Given the description of an element on the screen output the (x, y) to click on. 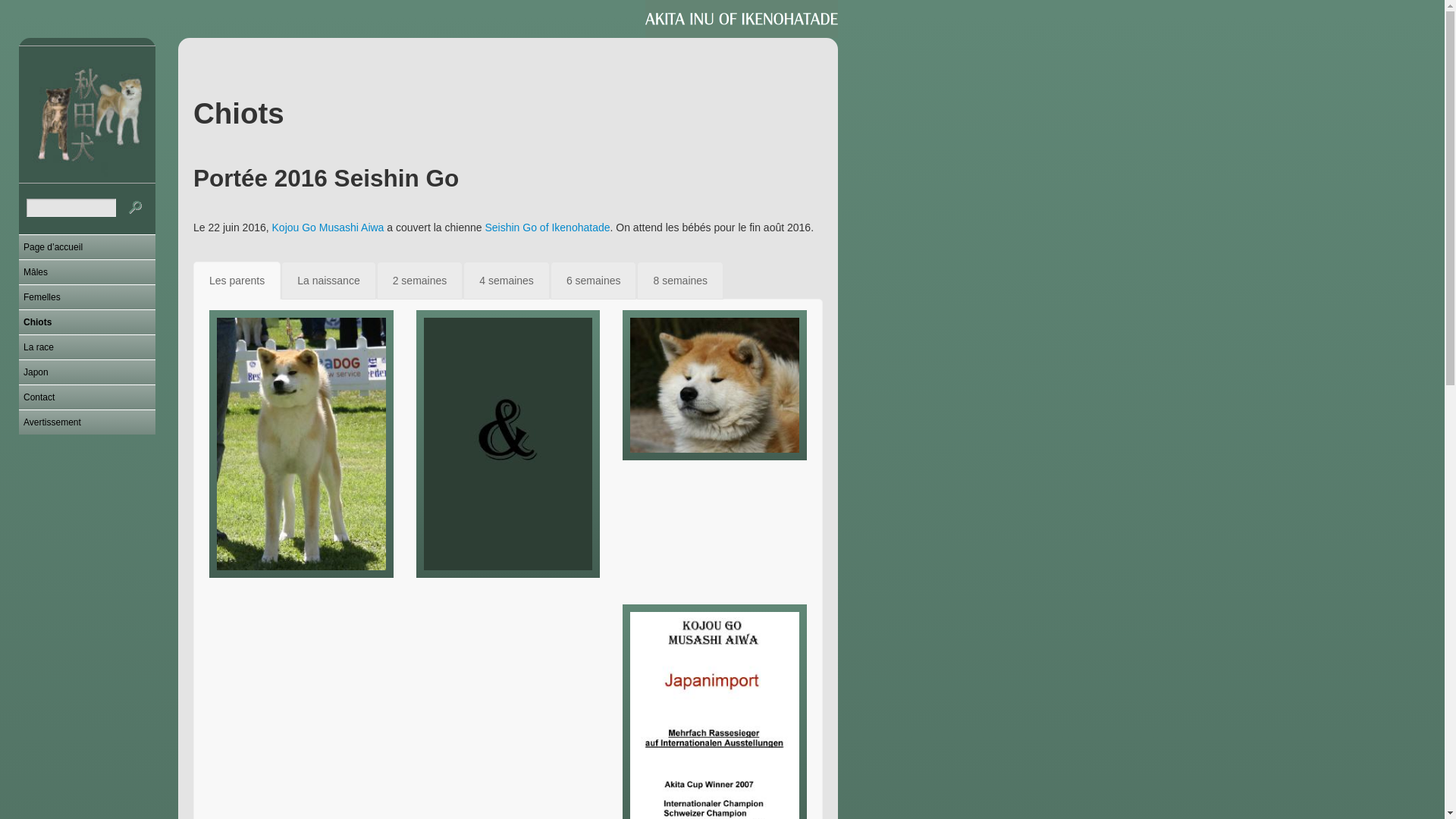
6 semaines Element type: text (593, 280)
Chiots Element type: text (86, 321)
8 semaines Element type: text (680, 280)
2 semaines Element type: text (419, 280)
Contact Element type: text (86, 396)
Japon Element type: text (86, 371)
La naissance Element type: text (328, 280)
Seishin Go of Ikenohatade Element type: text (546, 227)
La race Element type: text (86, 346)
Kojou Go Musashi Aiwa Element type: text (328, 227)
Femelles Element type: text (86, 296)
4 semaines Element type: text (506, 280)
Les parents Element type: text (236, 280)
Avertissement Element type: text (86, 421)
